Given the description of an element on the screen output the (x, y) to click on. 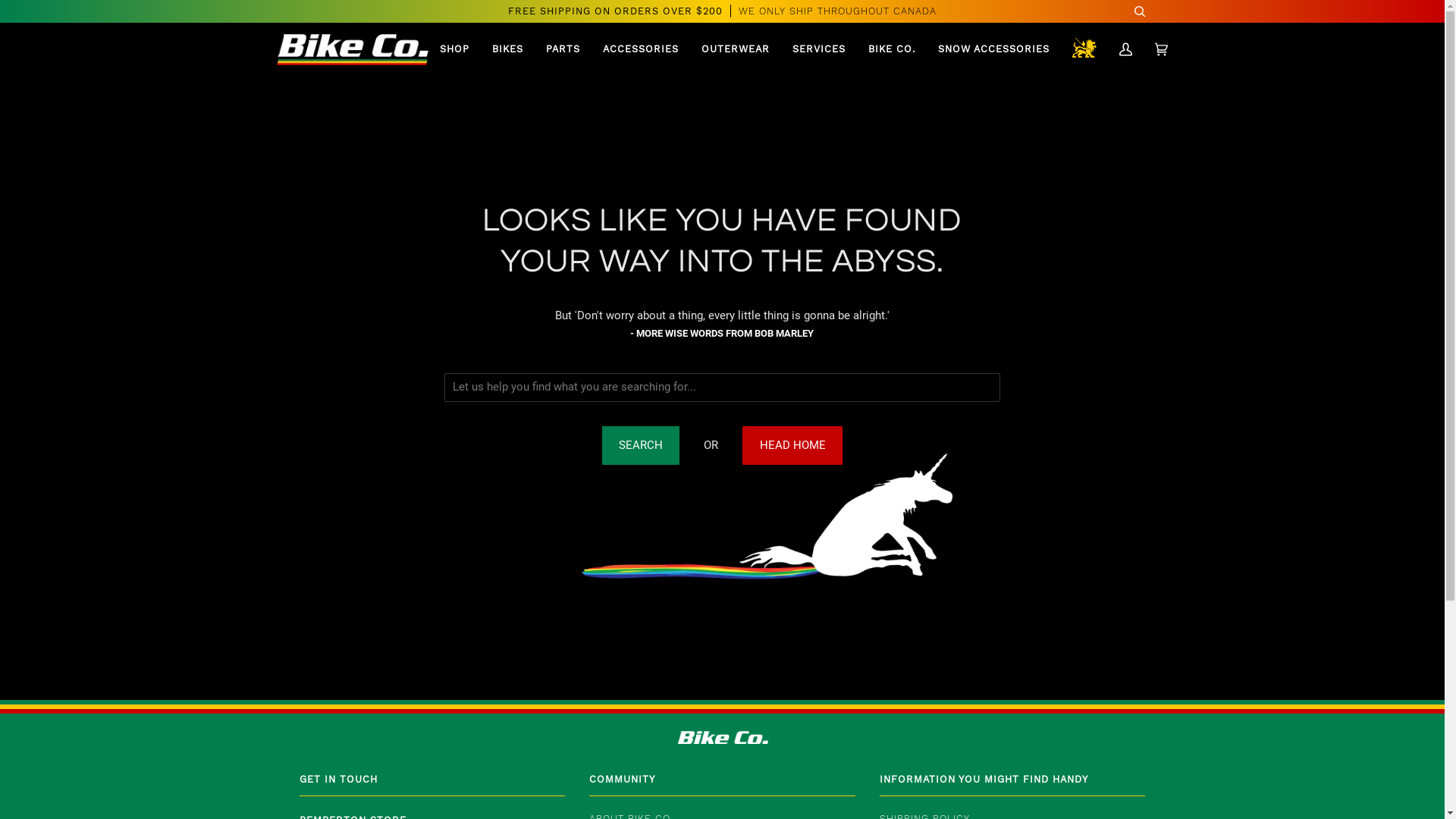
SHOP Element type: text (454, 49)
OUTERWEAR Element type: text (735, 49)
PARTS Element type: text (562, 49)
BIKES Element type: text (507, 49)
Search Element type: text (641, 445)
Cart
(0) Element type: text (1161, 49)
SNOW ACCESSORIES Element type: text (993, 49)
SERVICES Element type: text (818, 49)
BIKE CO. Element type: text (891, 49)
ACCESSORIES Element type: text (640, 49)
HEAD HOME Element type: text (792, 445)
My Account Element type: text (1125, 49)
